Given the description of an element on the screen output the (x, y) to click on. 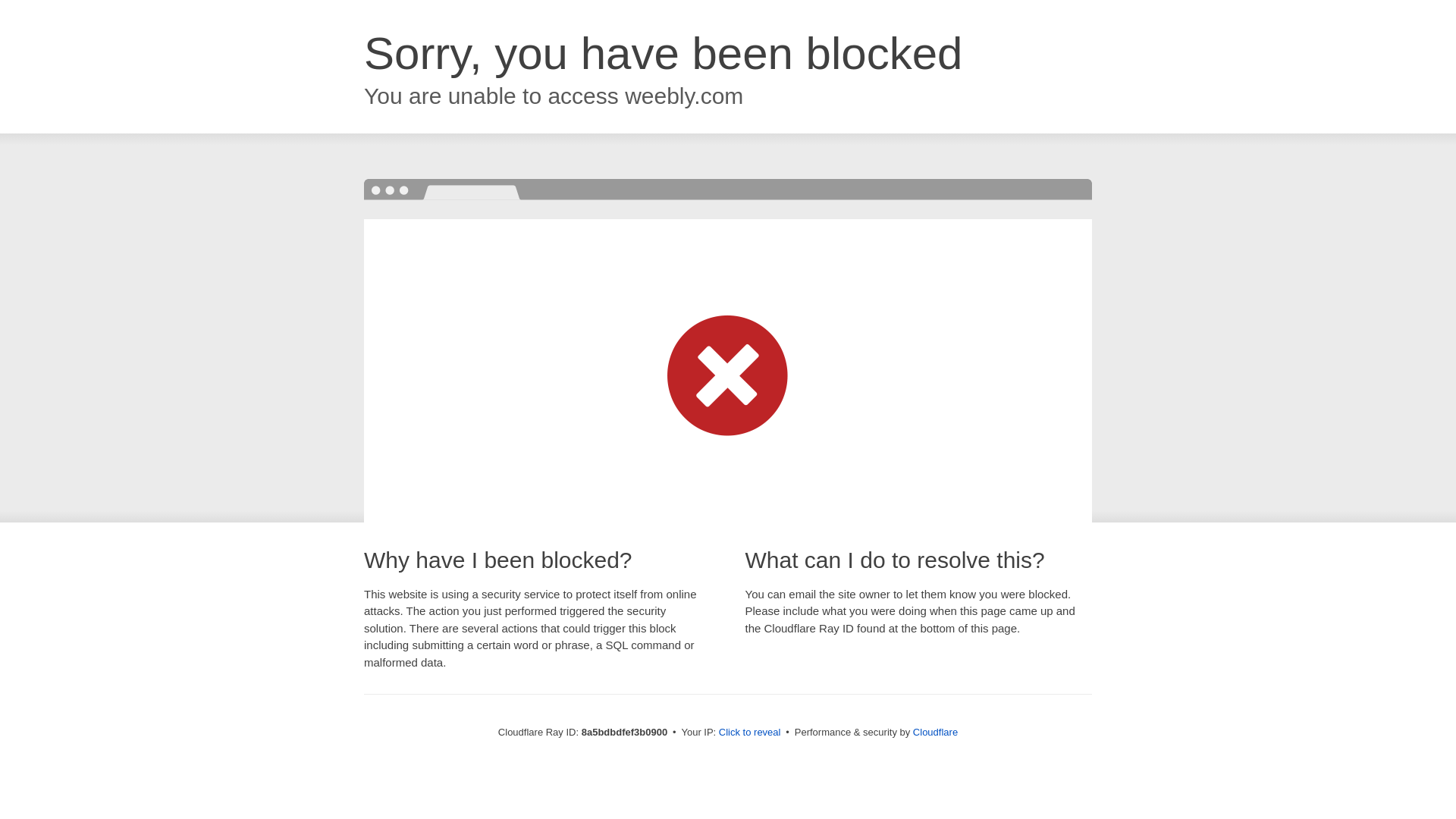
Click to reveal (749, 732)
Cloudflare (935, 731)
